Given the description of an element on the screen output the (x, y) to click on. 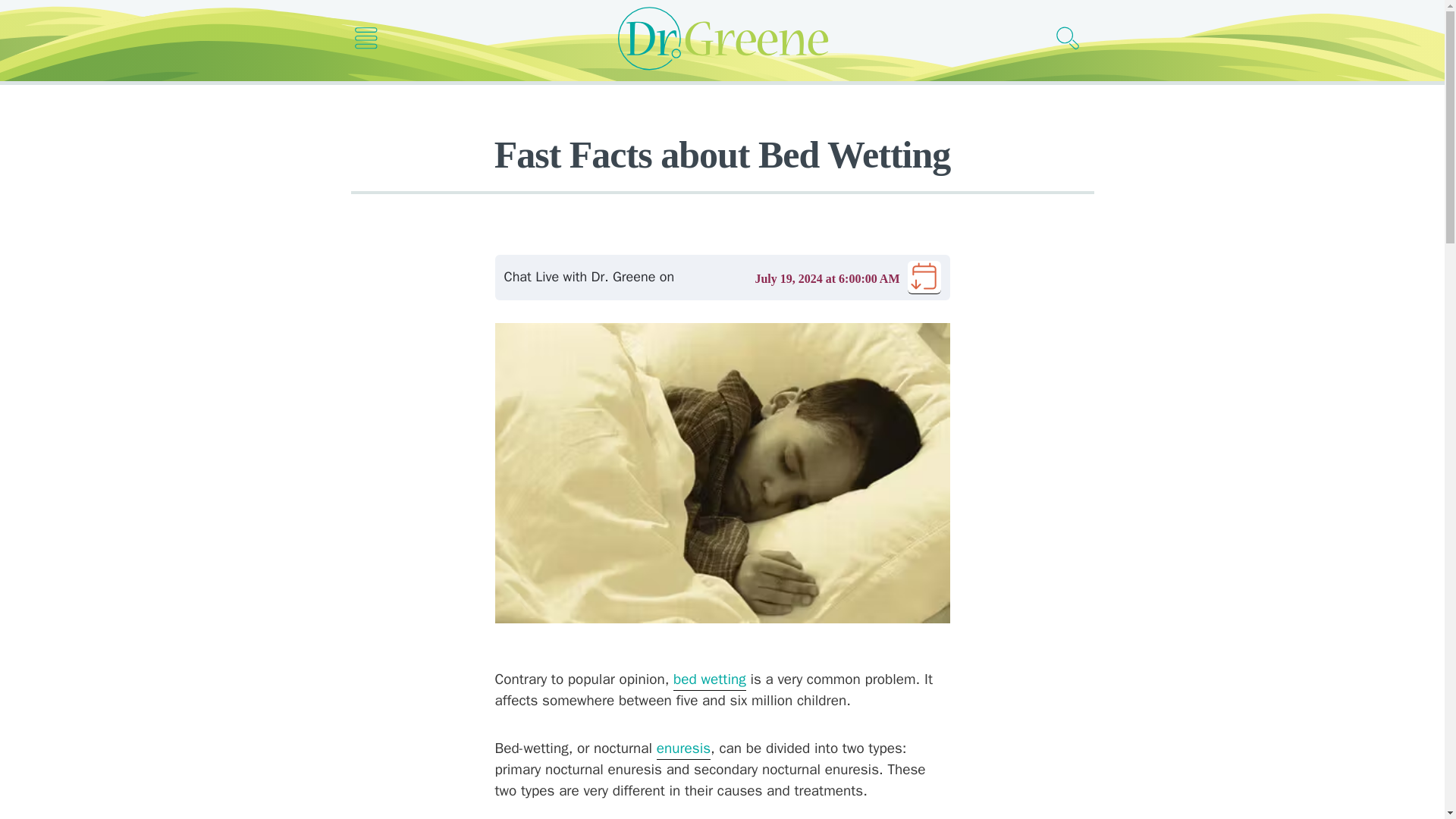
enuresis (683, 749)
Dr Greene logo (721, 37)
bed wetting (708, 680)
